Given the description of an element on the screen output the (x, y) to click on. 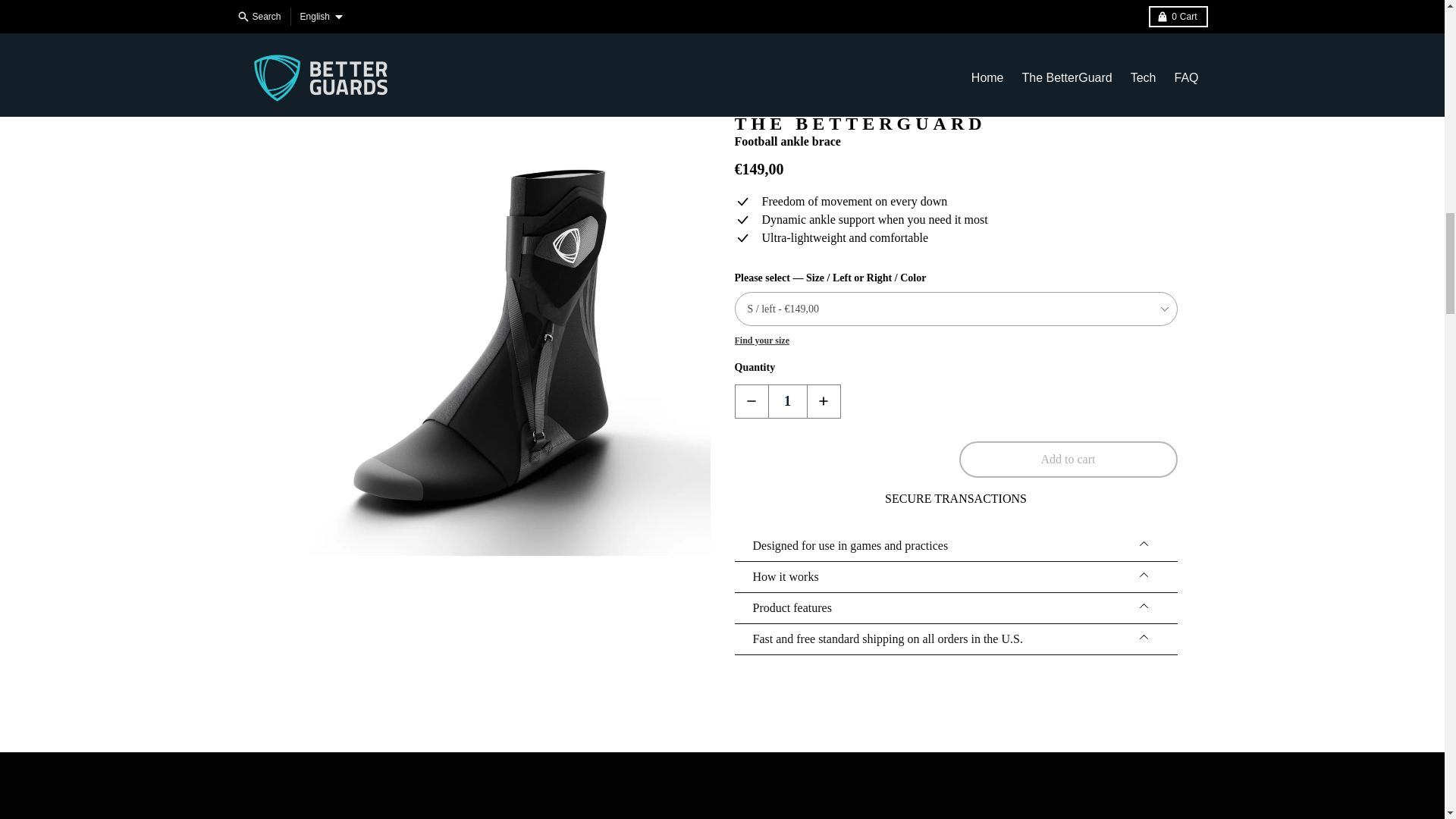
1 (787, 401)
Decrement (750, 401)
Find your size (761, 339)
Add to cart (1067, 459)
Increment (823, 401)
